Given the description of an element on the screen output the (x, y) to click on. 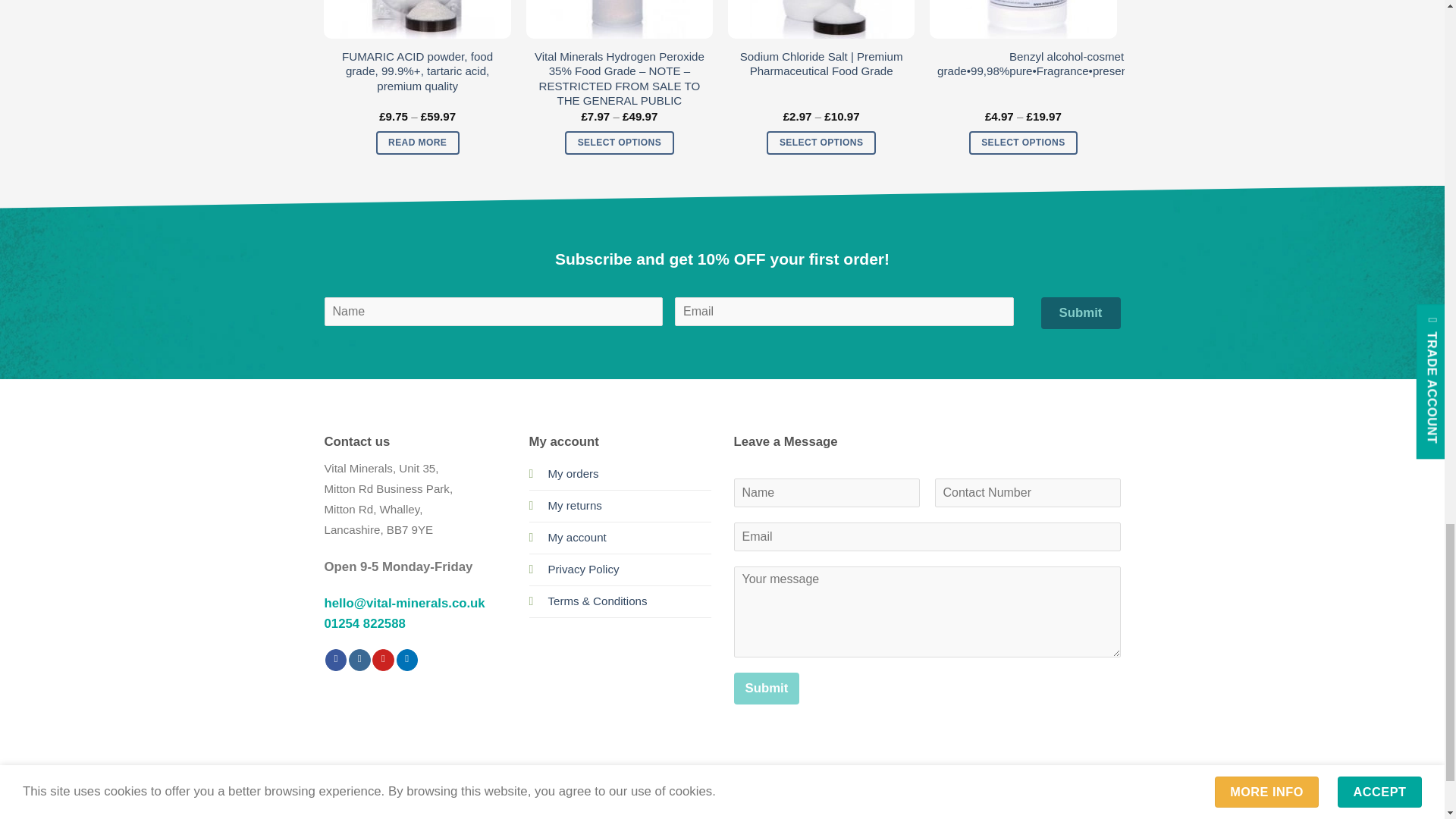
Follow on Facebook (335, 659)
Submit (389, 180)
Follow on Instagram (360, 659)
